Given the description of an element on the screen output the (x, y) to click on. 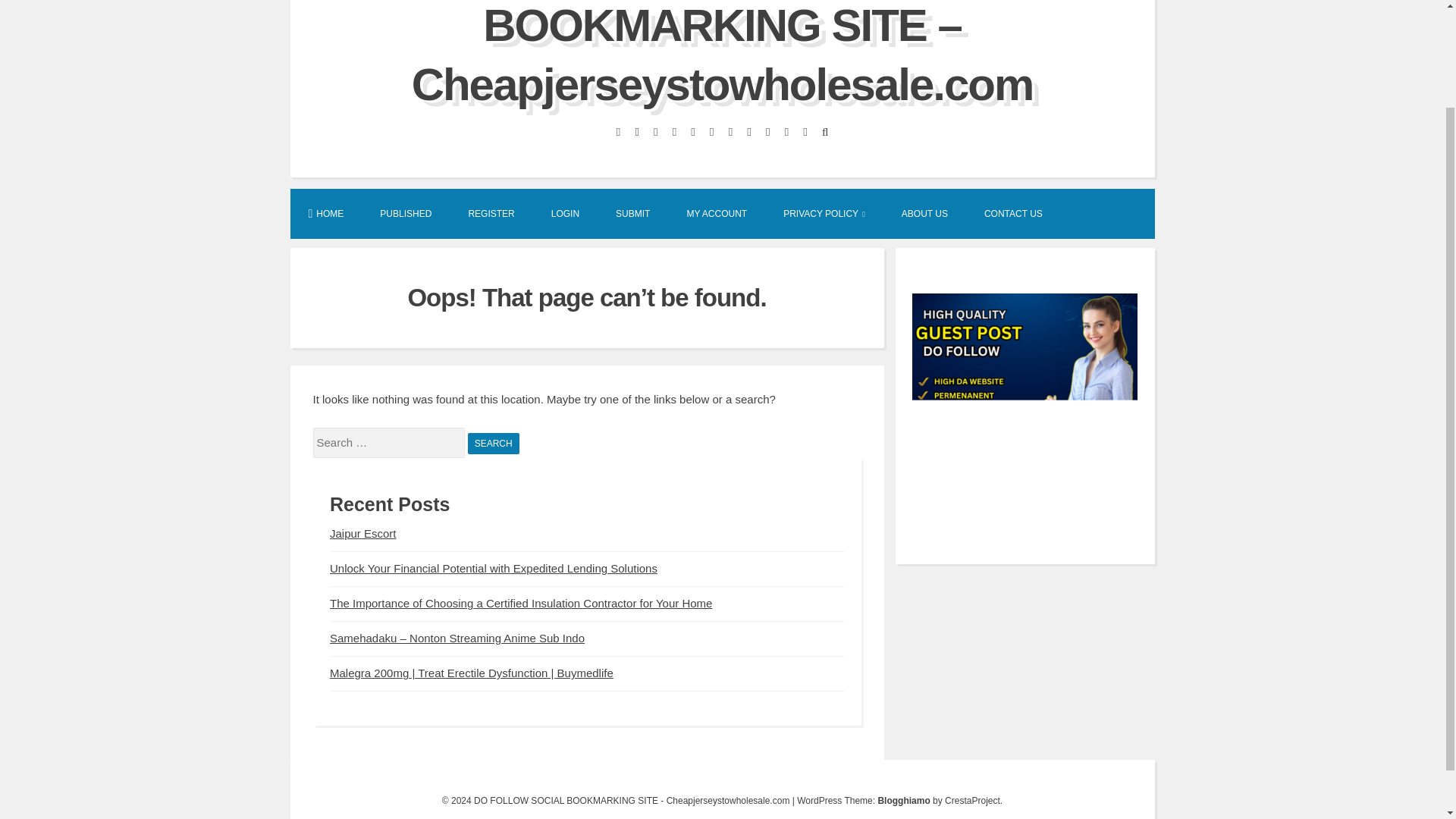
HOME (325, 213)
MY ACCOUNT (716, 213)
PRIVACY POLICY (824, 213)
Blogghiamo (903, 800)
SUBMIT (632, 213)
Search (493, 443)
LOGIN (564, 213)
Search (493, 443)
CONTACT US (1013, 213)
